Given the description of an element on the screen output the (x, y) to click on. 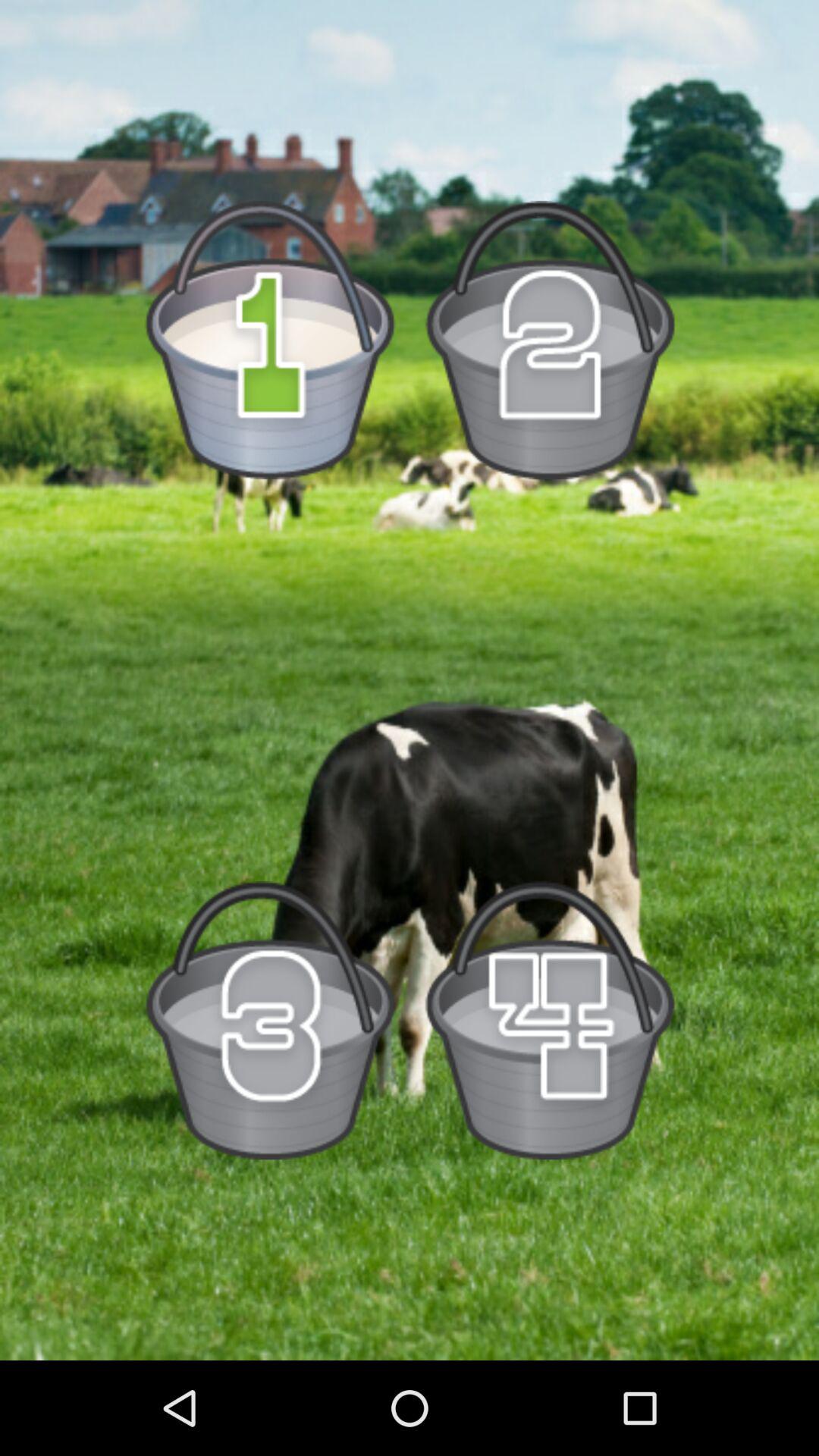
1 (269, 339)
